Given the description of an element on the screen output the (x, y) to click on. 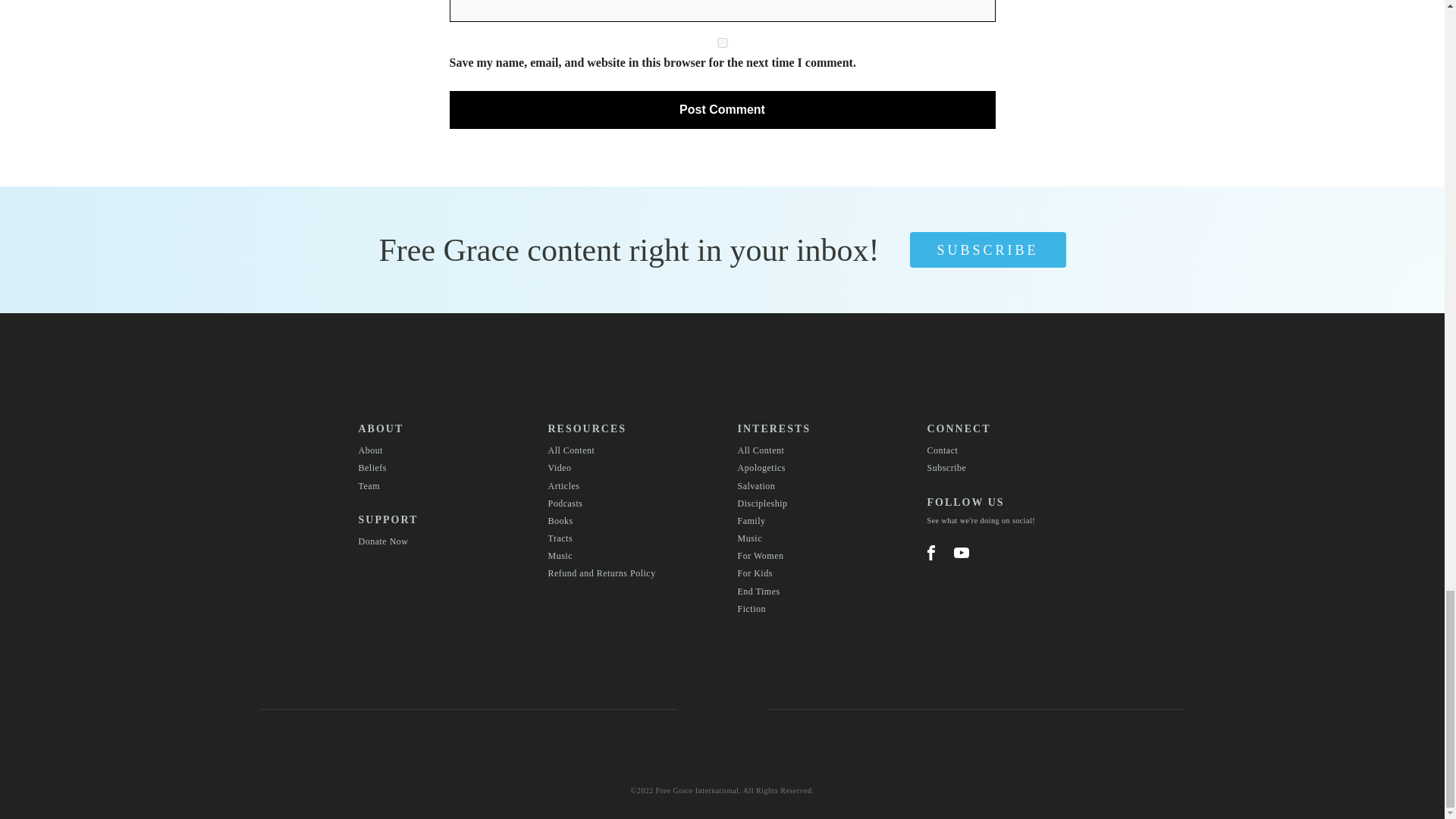
Post Comment (721, 109)
yes (721, 42)
